Given the description of an element on the screen output the (x, y) to click on. 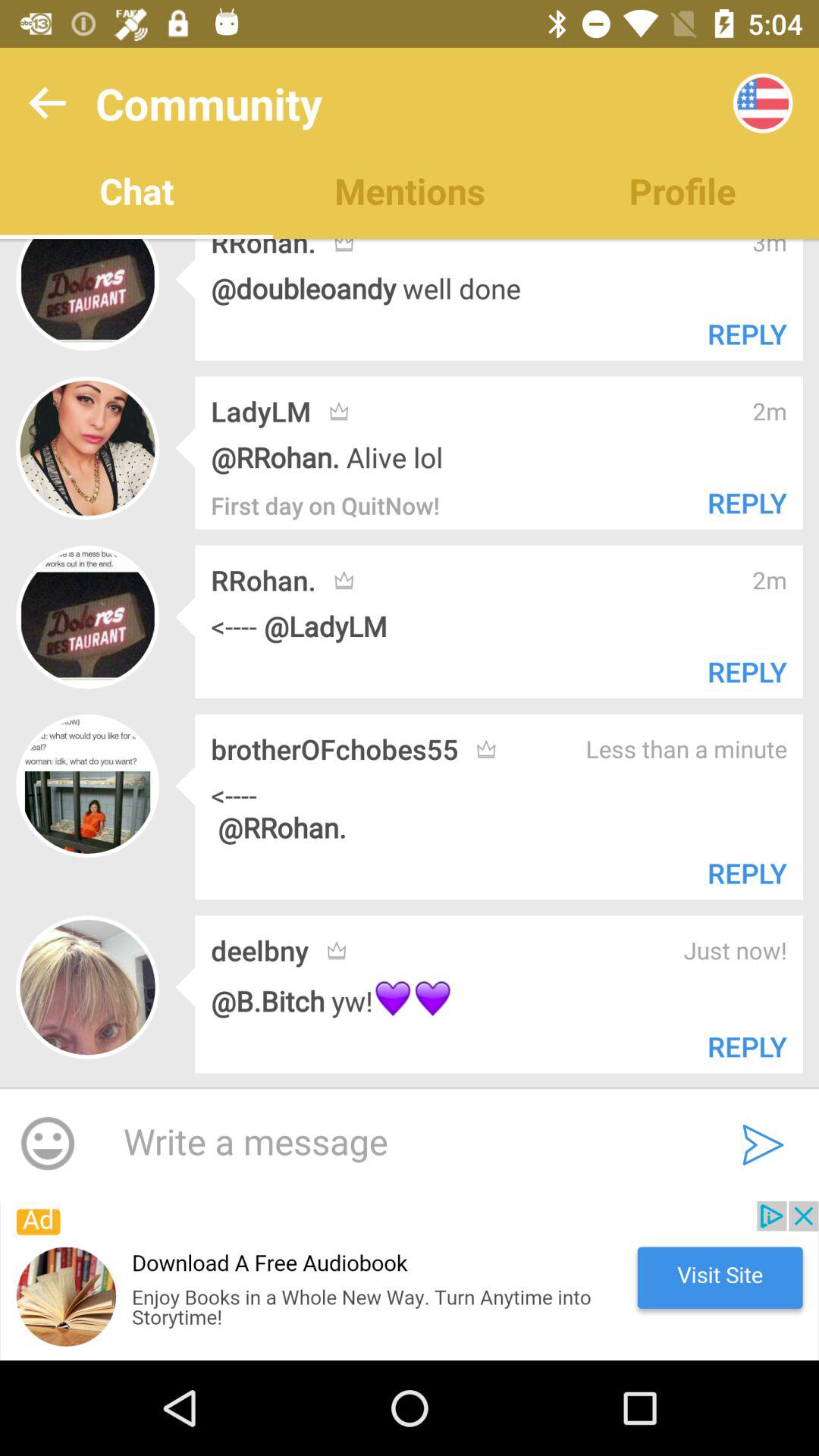
emoji menu (47, 1144)
